Given the description of an element on the screen output the (x, y) to click on. 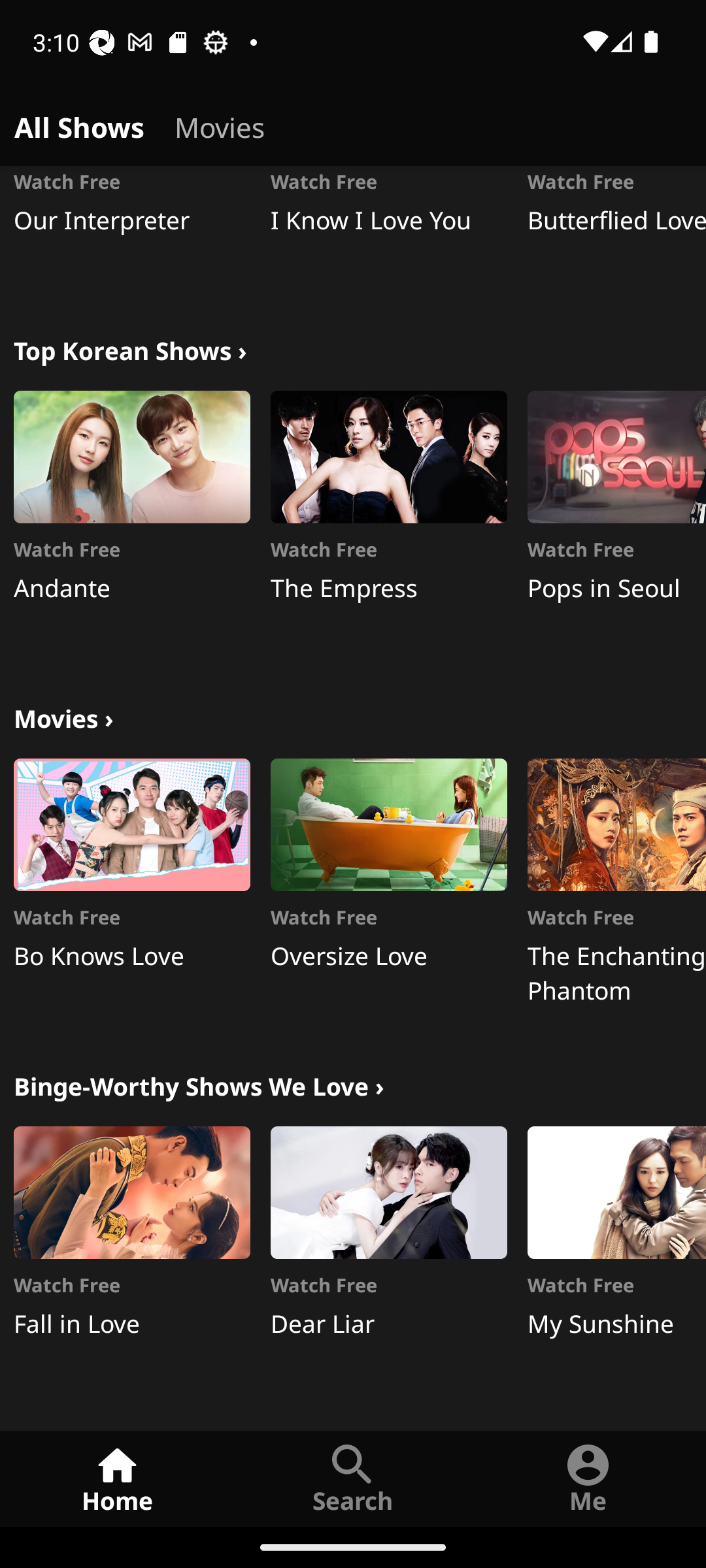
Search (352, 1478)
Me (588, 1478)
